Given the description of an element on the screen output the (x, y) to click on. 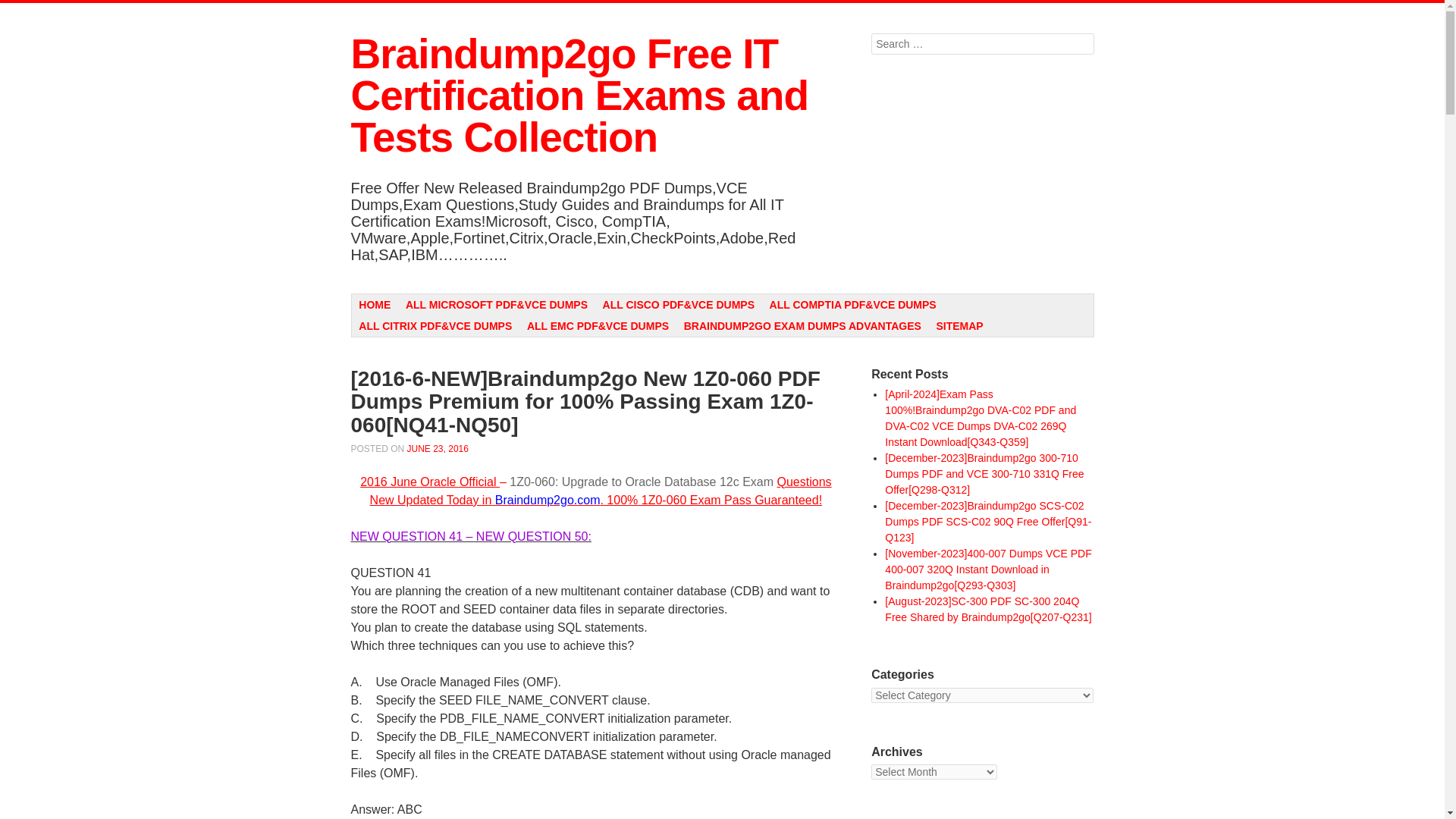
JUNE 23, 2016 (437, 448)
SITEMAP (959, 325)
HOME (375, 304)
Search (22, 9)
BRAINDUMP2GO EXAM DUMPS ADVANTAGES (802, 325)
7:10 am (437, 448)
SKIP TO CONTENT (405, 302)
